Given the description of an element on the screen output the (x, y) to click on. 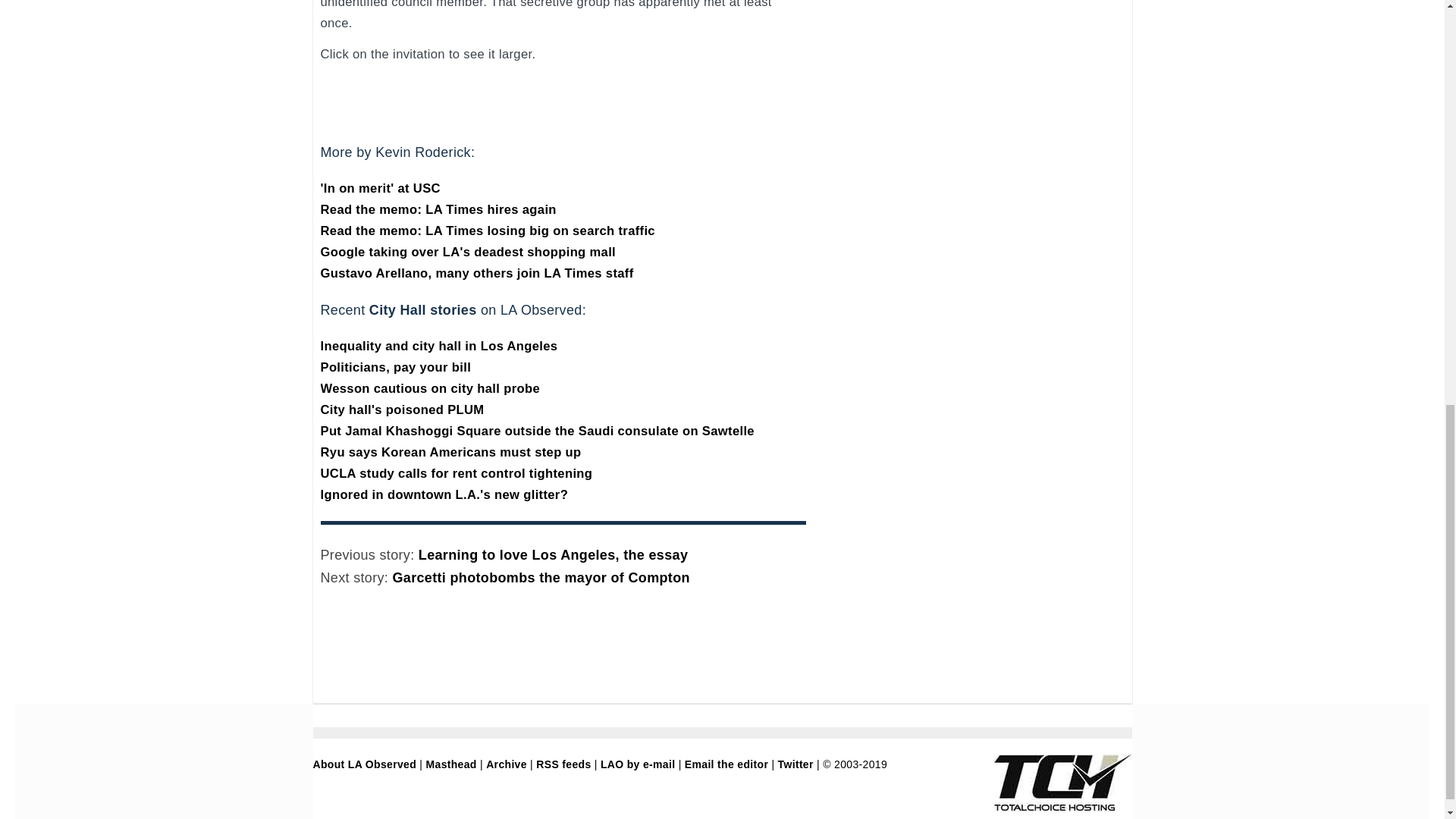
Politicians, pay your bill (395, 367)
Ignored in downtown L.A.'s new glitter? (443, 494)
Google taking over LA's deadest shopping mall (467, 251)
Archive (506, 764)
Learning to love Los Angeles, the essay (553, 554)
Masthead (451, 764)
Twitter (795, 764)
LAO by e-mail (637, 764)
Wesson cautious on city hall probe (429, 388)
'In on merit' at USC (379, 187)
About LA Observed (364, 764)
Inequality and city hall in Los Angeles (438, 345)
Read the memo: LA Times losing big on search traffic (486, 230)
Read the memo: LA Times hires again (438, 209)
